Given the description of an element on the screen output the (x, y) to click on. 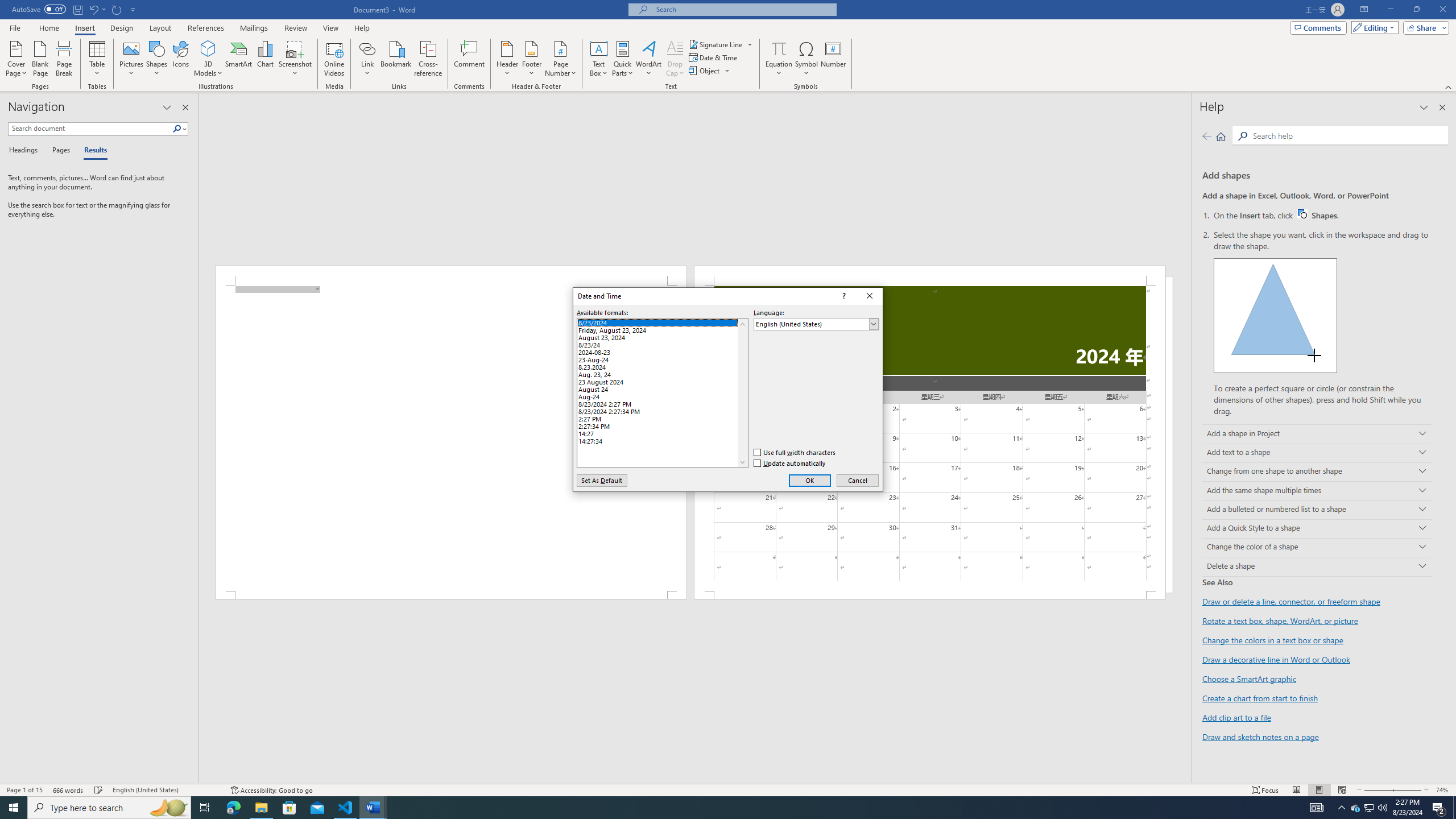
Visual Studio Code - 1 running window (345, 807)
Delete a shape (1316, 566)
8/23/2024 2:27:34 PM (662, 410)
Update automatically (790, 463)
File Explorer - 1 running window (261, 807)
Friday, August 23, 2024 (662, 328)
Search highlights icon opens search home window (167, 807)
Add a Quick Style to a shape (1316, 529)
Previous page (1206, 136)
